Given the description of an element on the screen output the (x, y) to click on. 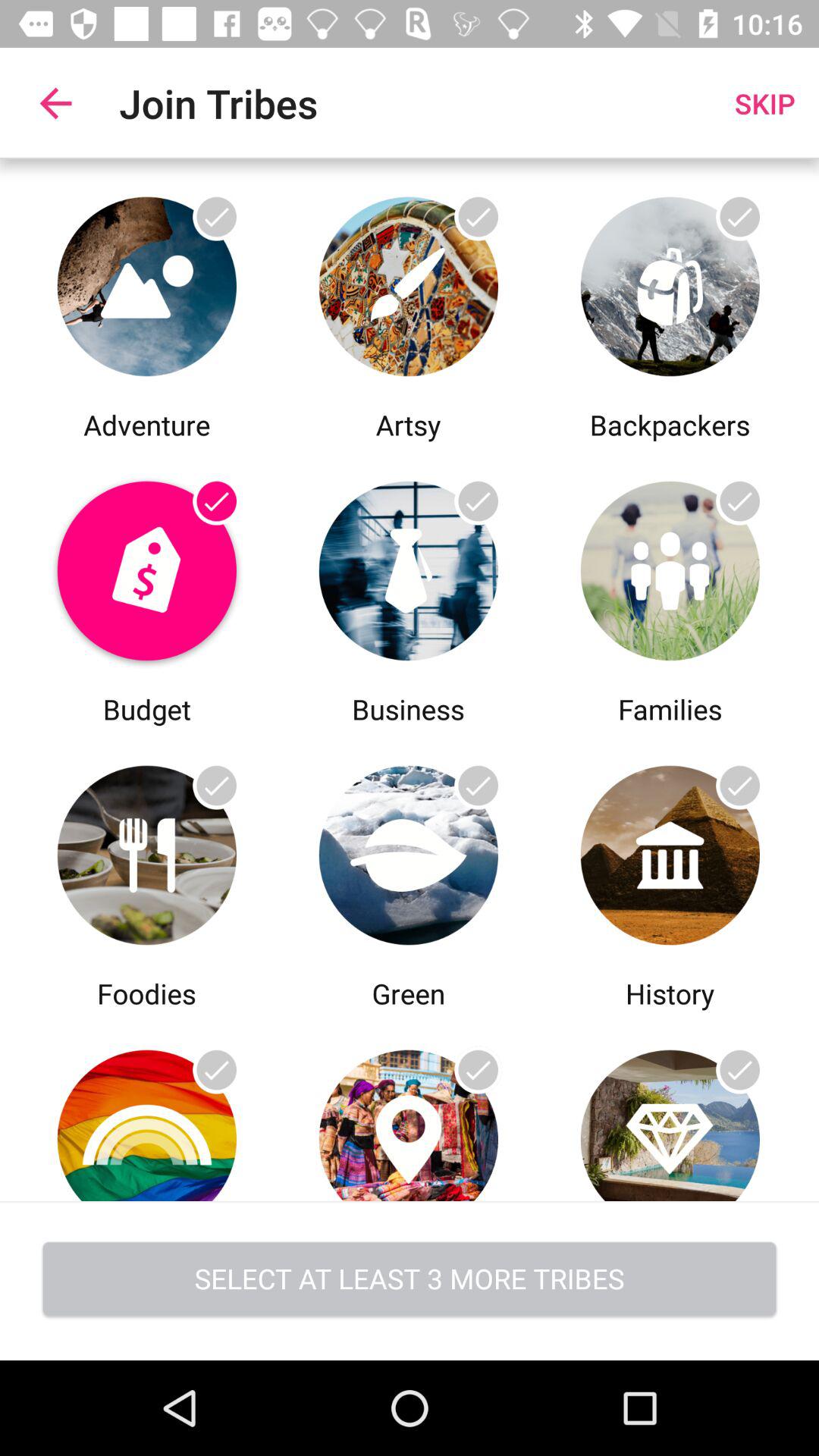
click the image (669, 851)
